Given the description of an element on the screen output the (x, y) to click on. 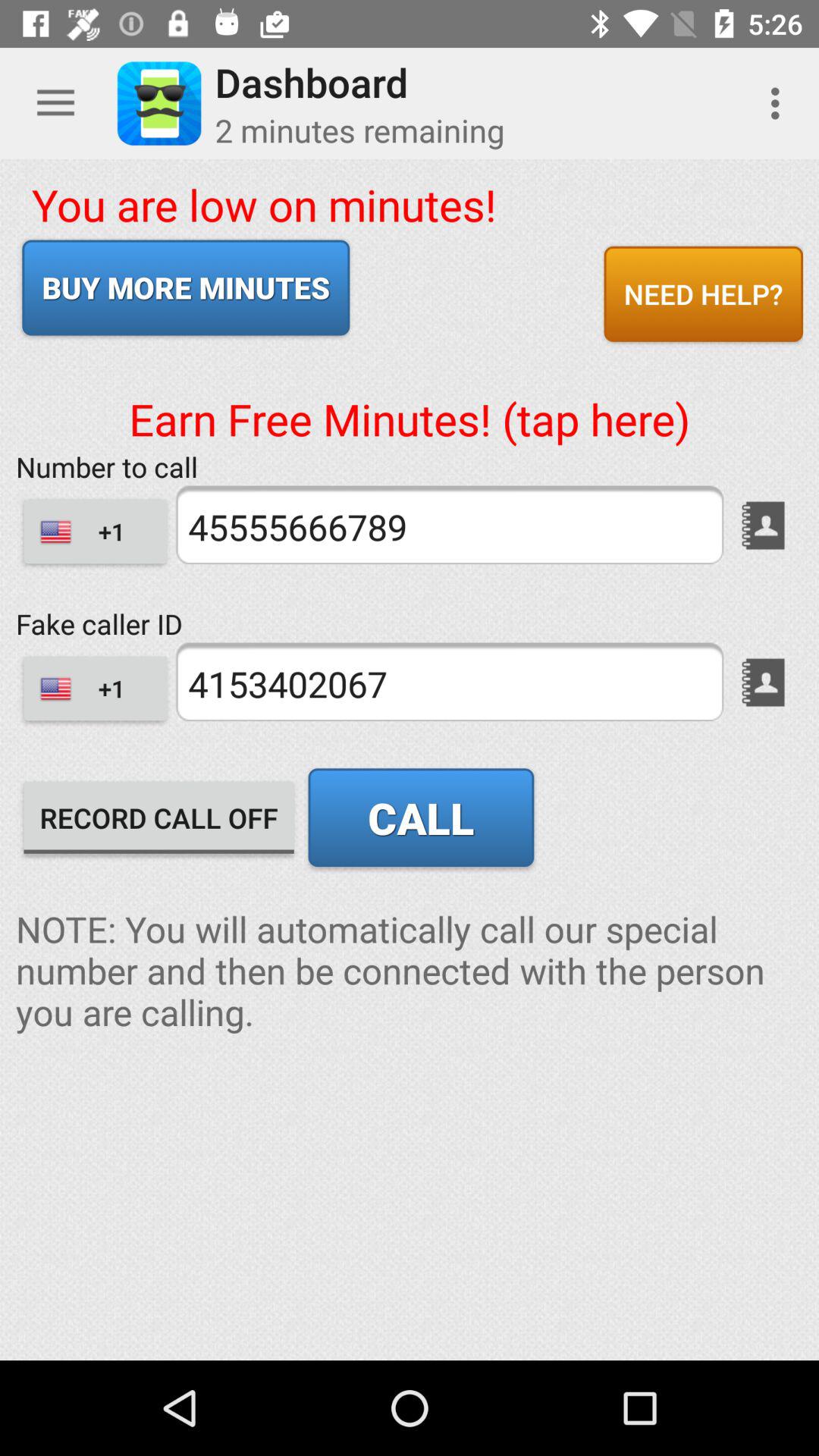
add to contacts (763, 525)
